Given the description of an element on the screen output the (x, y) to click on. 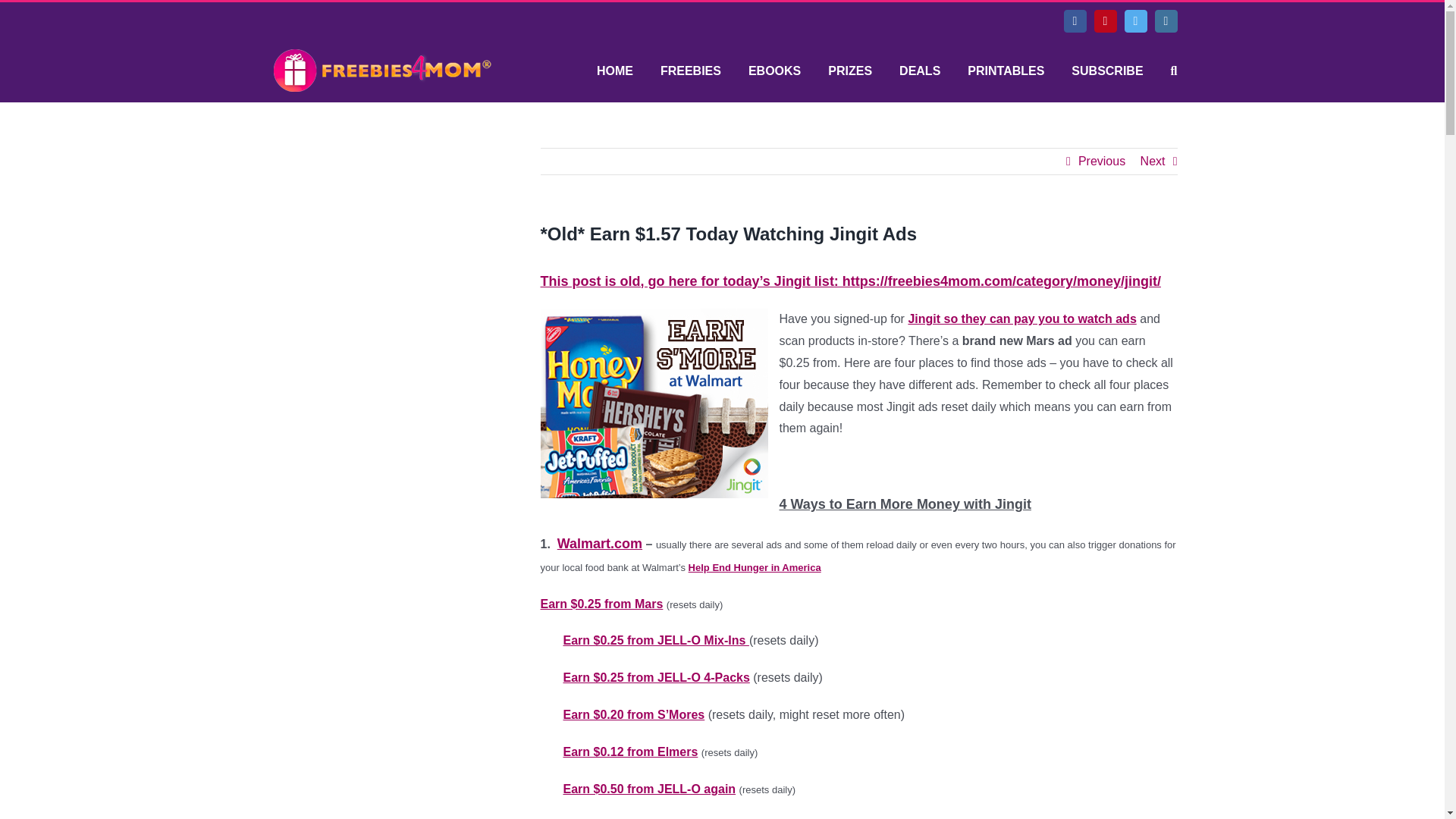
Walmart (633, 714)
Instagram (1165, 20)
Pinterest (1104, 20)
Jingit (653, 402)
Jingit (648, 788)
Walmart (599, 543)
Walmart (601, 603)
Facebook (1074, 20)
Help End Hunger (754, 567)
Twitter (1135, 20)
Jingit (1021, 318)
Walmart (655, 640)
PRINTABLES (1005, 70)
Walmart (655, 676)
FREEBIES (690, 70)
